Given the description of an element on the screen output the (x, y) to click on. 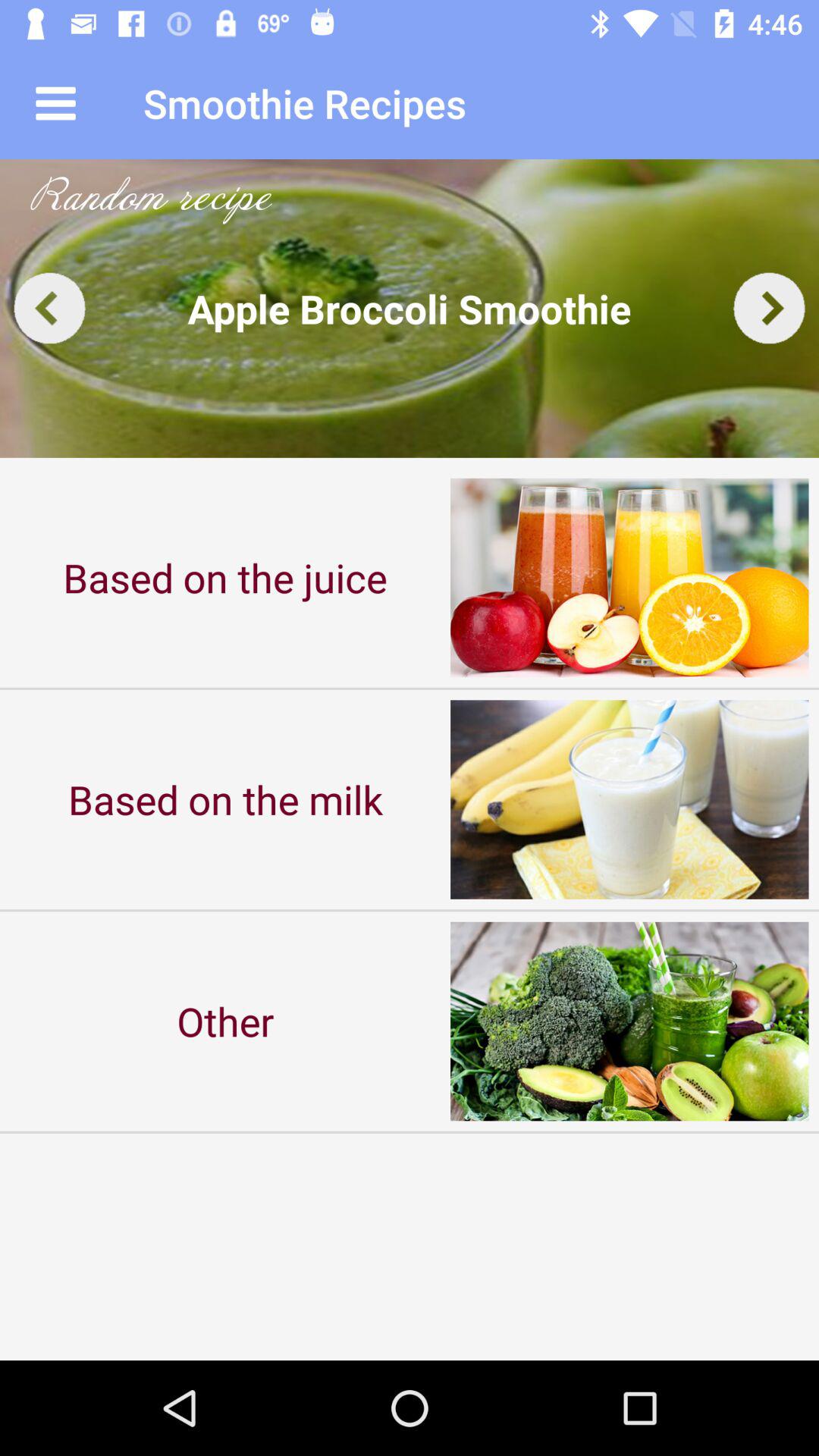
view next (769, 308)
